Given the description of an element on the screen output the (x, y) to click on. 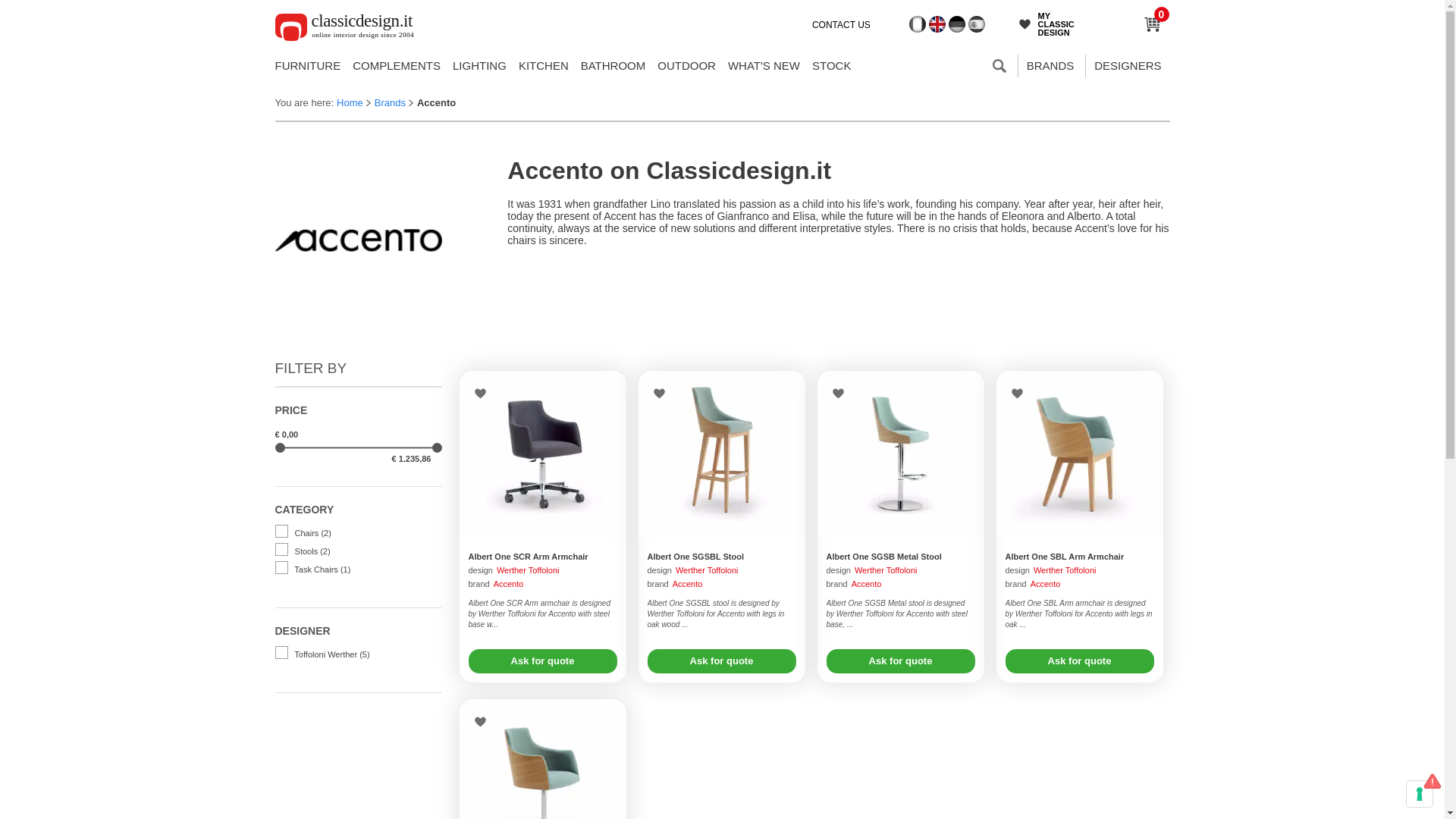
Classicdesign.it (351, 29)
IT (917, 23)
Lista dei desideri (1028, 23)
ES (976, 23)
Italiano (917, 23)
Espanol (976, 23)
Contact us (843, 24)
English (936, 23)
FURNITURE (307, 65)
Deutsch (957, 23)
COMPLEMENTS (396, 65)
on (280, 652)
CONTACT US (843, 24)
on (280, 530)
EN (936, 23)
